Given the description of an element on the screen output the (x, y) to click on. 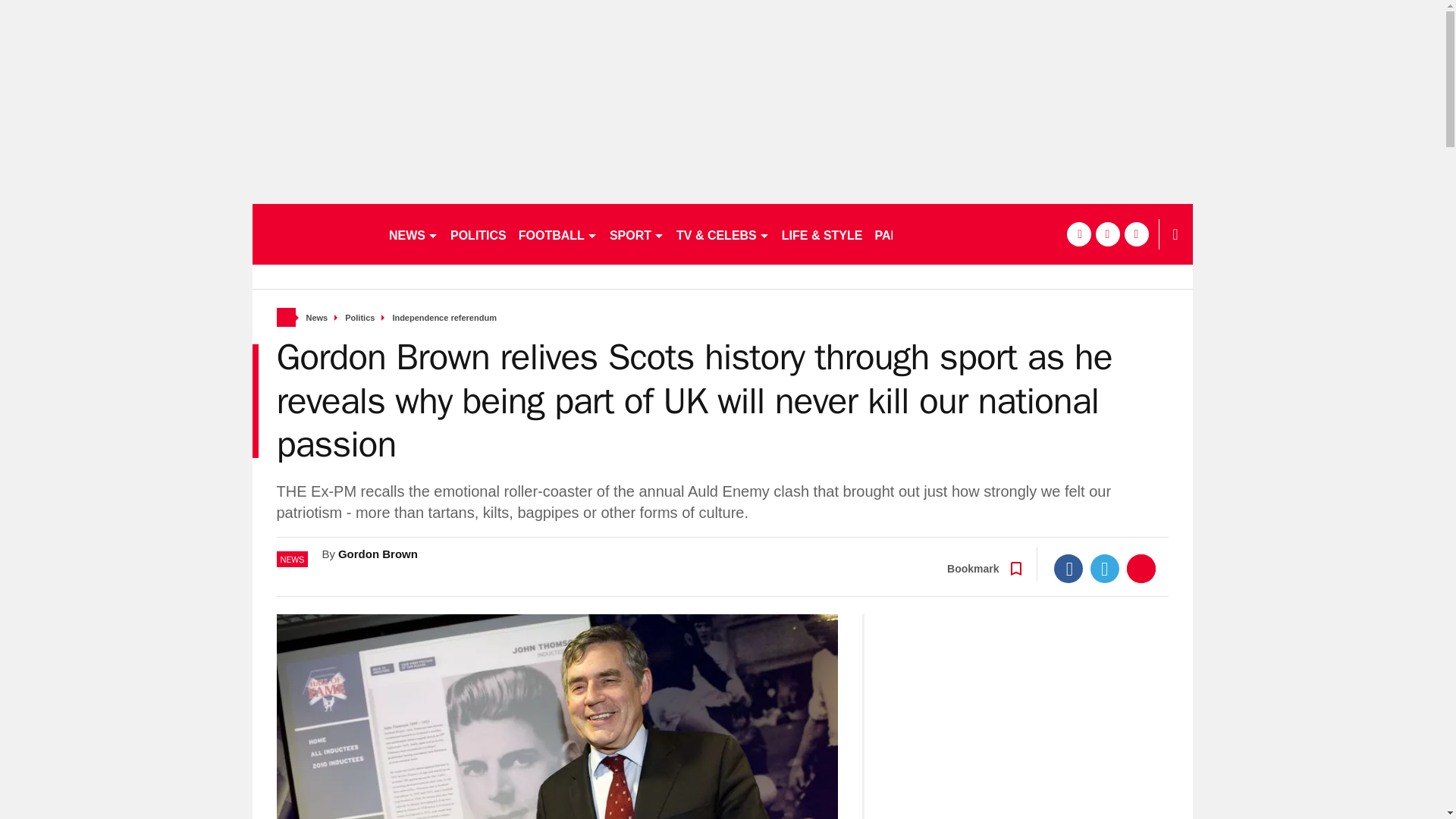
NEWS (413, 233)
instagram (1136, 233)
dailyrecord (313, 233)
facebook (1077, 233)
SPORT (636, 233)
twitter (1106, 233)
FOOTBALL (558, 233)
POLITICS (478, 233)
Facebook (1068, 568)
Twitter (1104, 568)
